Given the description of an element on the screen output the (x, y) to click on. 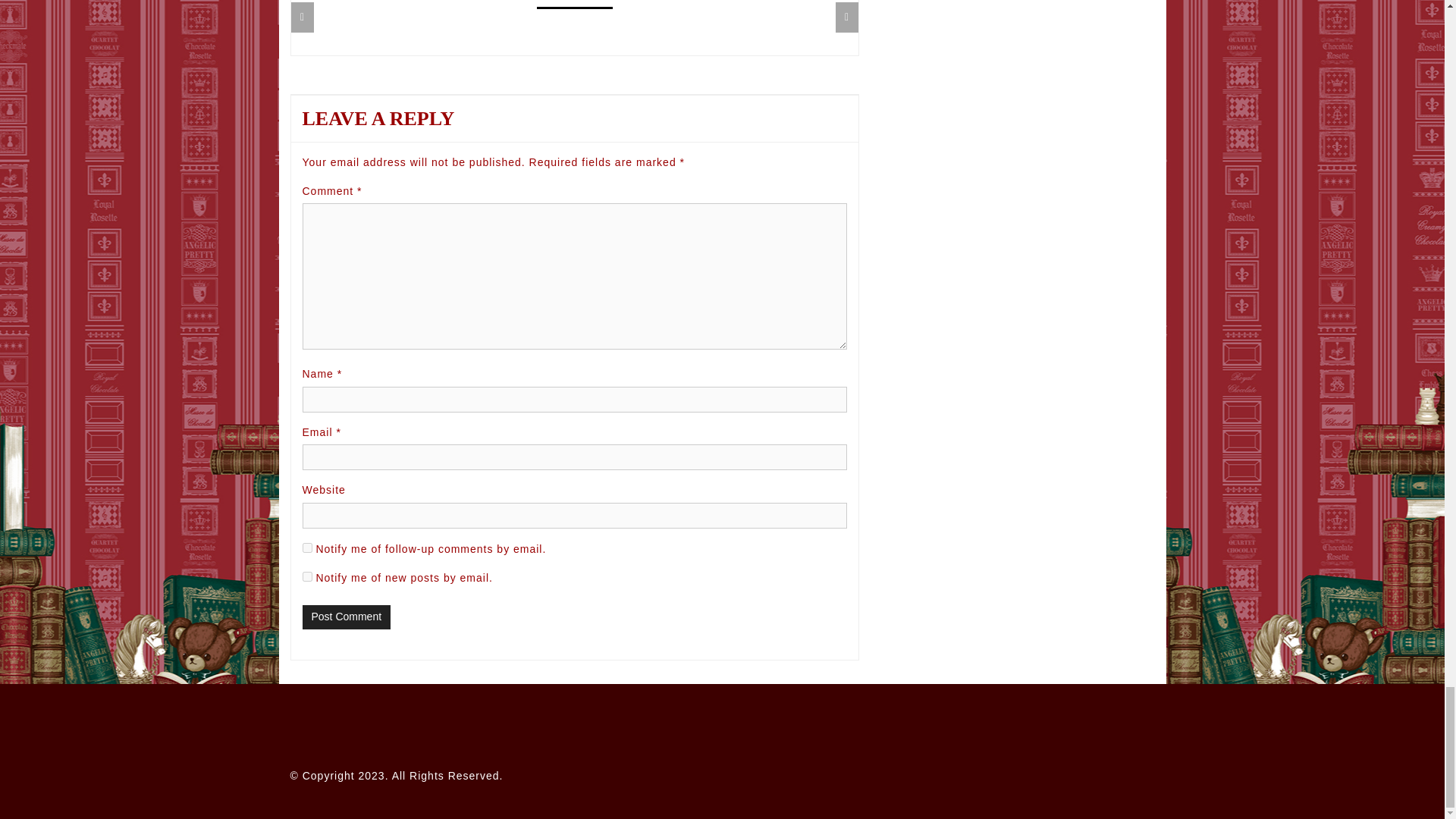
subscribe (306, 547)
Post Comment (345, 617)
subscribe (306, 576)
